Given the description of an element on the screen output the (x, y) to click on. 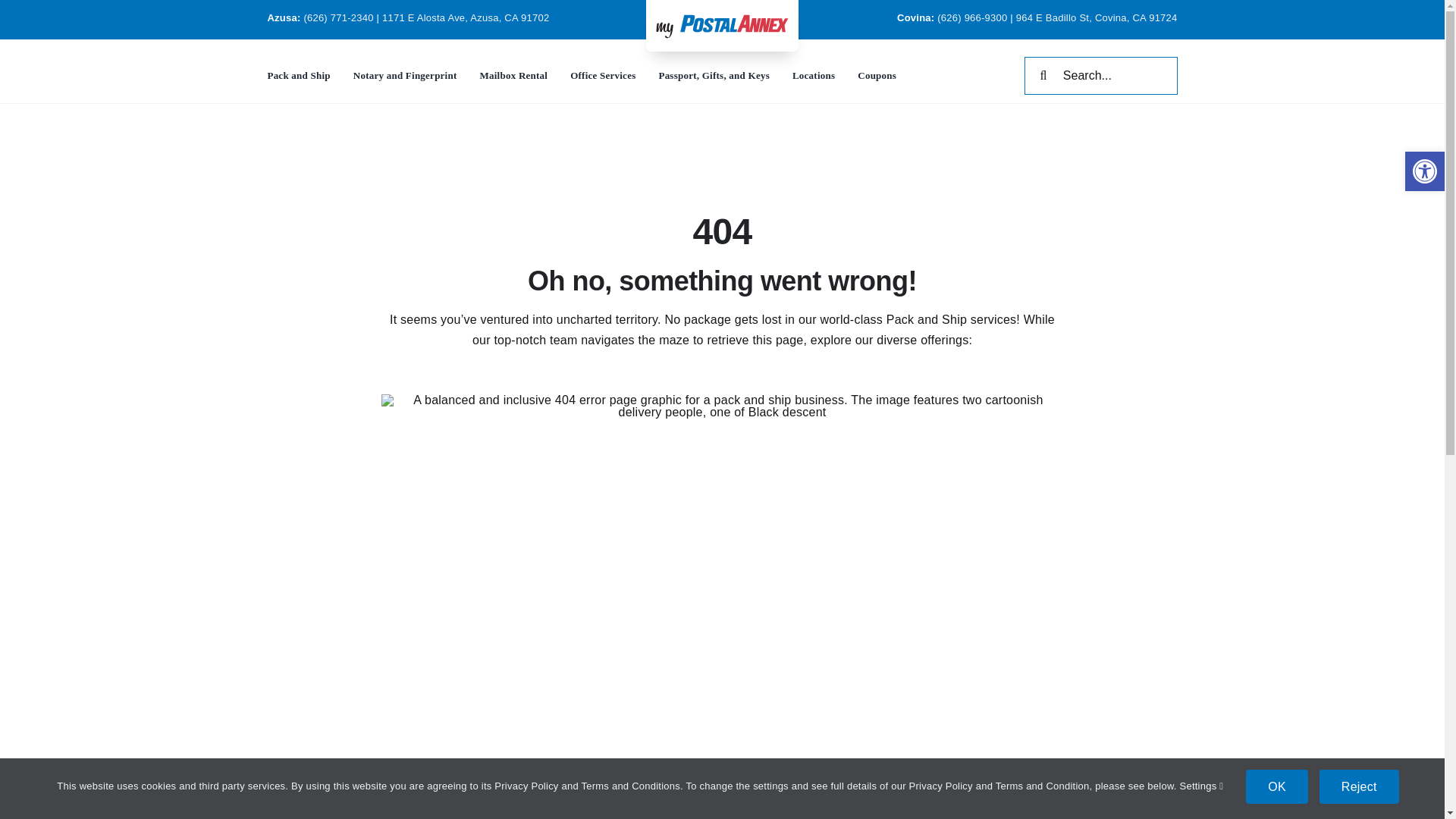
Accessibility Tools (1424, 170)
964 E Badillo St, Covina, CA 91724 (1096, 17)
1171 E Alosta Ave, Azusa, CA 91702 (464, 17)
Submit (957, 430)
Pack and Ship (298, 75)
